Given the description of an element on the screen output the (x, y) to click on. 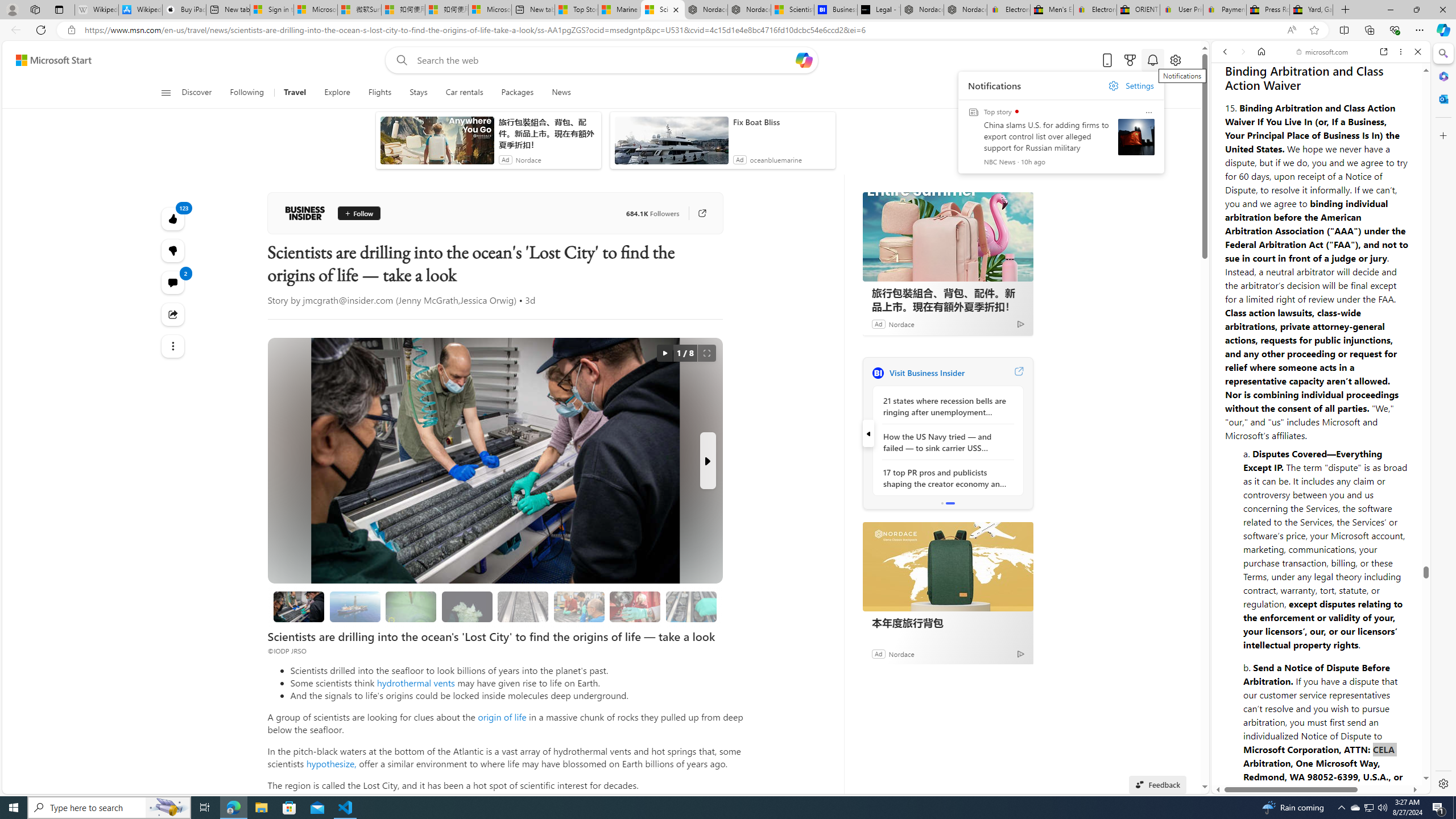
Skip to content (49, 59)
oceanbluemarine (775, 159)
App bar (728, 29)
Advertise (1334, 757)
Close (1417, 51)
More options (1401, 51)
Looking for evidence of oxygen-free life (579, 606)
autorotate button (664, 352)
Privacy (1252, 751)
Looking for evidence of oxygen-free life (578, 606)
Open settings (1175, 60)
Visit Business Insider website (1018, 372)
